Given the description of an element on the screen output the (x, y) to click on. 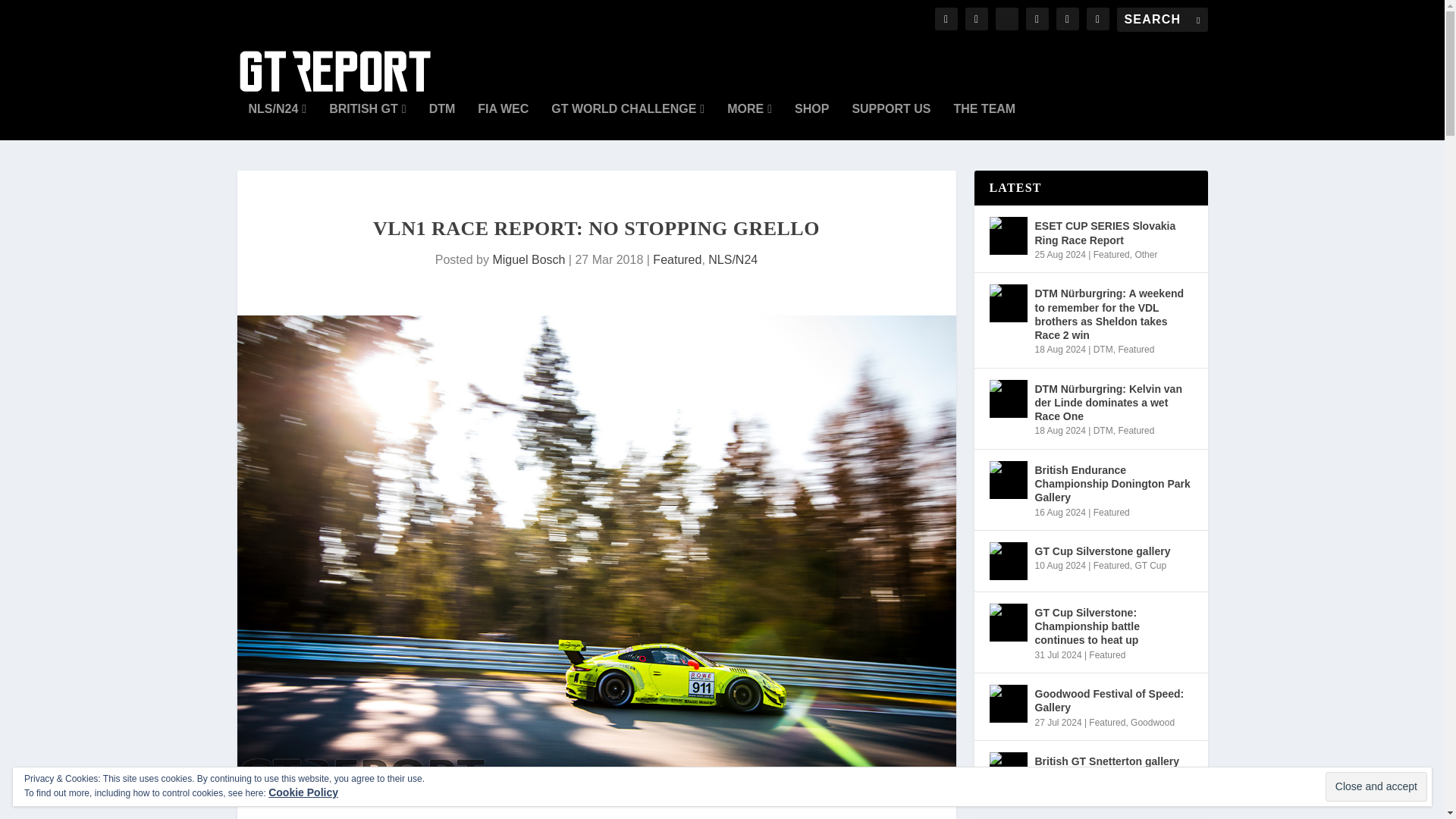
FIA WEC (502, 121)
SUPPORT US (890, 121)
Search for: (1161, 19)
Posts by Miguel Bosch (528, 259)
SHOP (811, 121)
ESET CUP SERIES Slovakia Ring Race Report (1007, 235)
BRITISH GT (367, 121)
GT WORLD CHALLENGE (627, 121)
Close and accept (1375, 786)
MORE (748, 121)
